Given the description of an element on the screen output the (x, y) to click on. 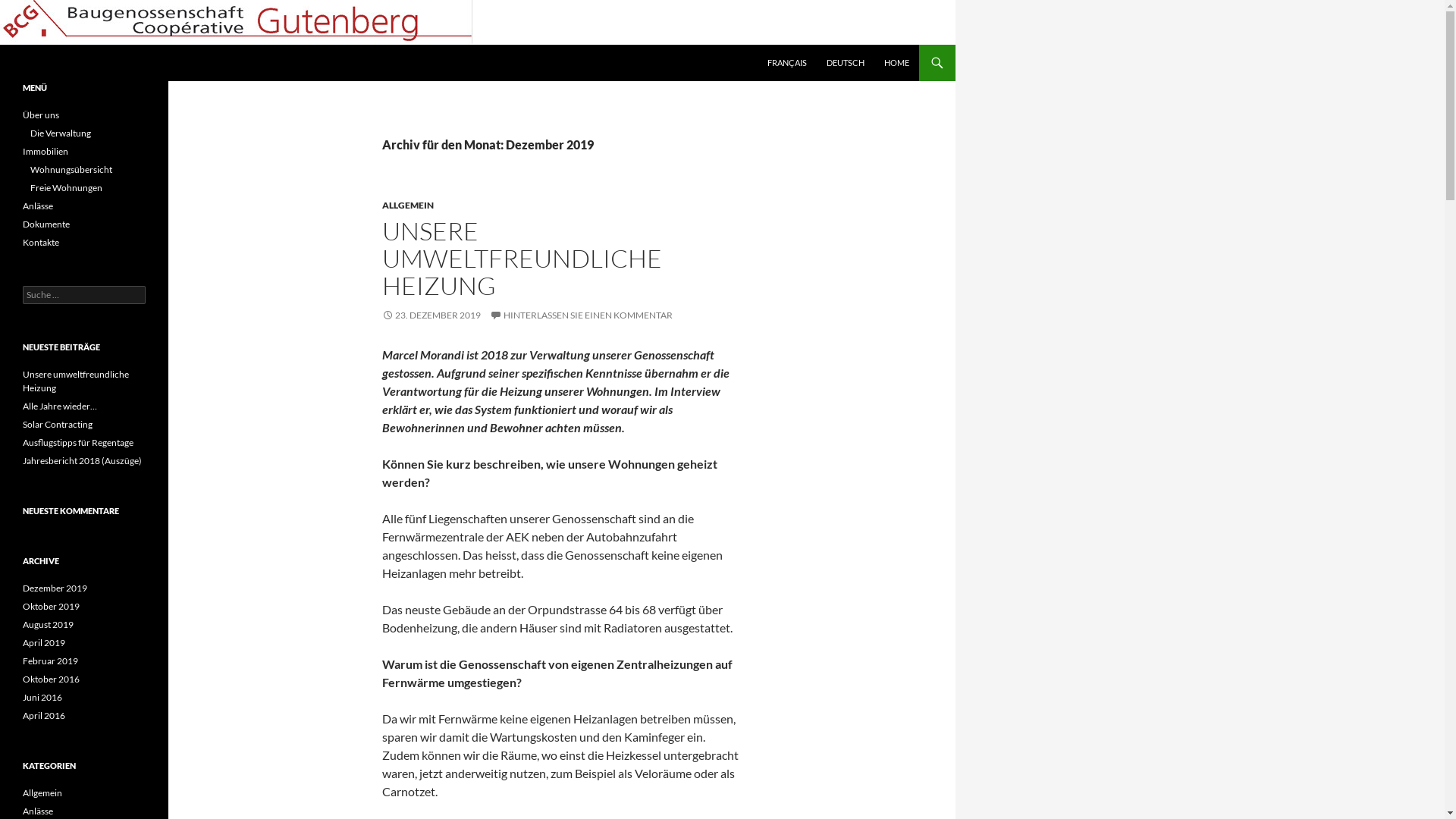
UNSERE UMWELTFREUNDLICHE HEIZUNG Element type: text (522, 258)
HOME Element type: text (896, 62)
ALLGEMEIN Element type: text (407, 204)
April 2019 Element type: text (43, 642)
Dokumente Element type: text (45, 223)
ZUM INHALT SPRINGEN Element type: text (766, 43)
Suche Element type: text (26, 9)
Oktober 2016 Element type: text (50, 678)
August 2019 Element type: text (47, 624)
Freie Wohnungen Element type: text (66, 187)
Oktober 2019 Element type: text (50, 605)
Die Verwaltung Element type: text (60, 132)
Solar Contracting Element type: text (57, 423)
Juni 2016 Element type: text (42, 696)
DEUTSCH Element type: text (845, 62)
23. DEZEMBER 2019 Element type: text (431, 314)
Allgemein Element type: text (42, 792)
Februar 2019 Element type: text (50, 660)
Immobilien Element type: text (45, 150)
Suchen Element type: text (3, 43)
Unsere umweltfreundliche Heizung Element type: text (75, 380)
Dezember 2019 Element type: text (54, 587)
April 2016 Element type: text (43, 715)
HINTERLASSEN SIE EINEN KOMMENTAR Element type: text (580, 314)
Kontakte Element type: text (40, 241)
